Given the description of an element on the screen output the (x, y) to click on. 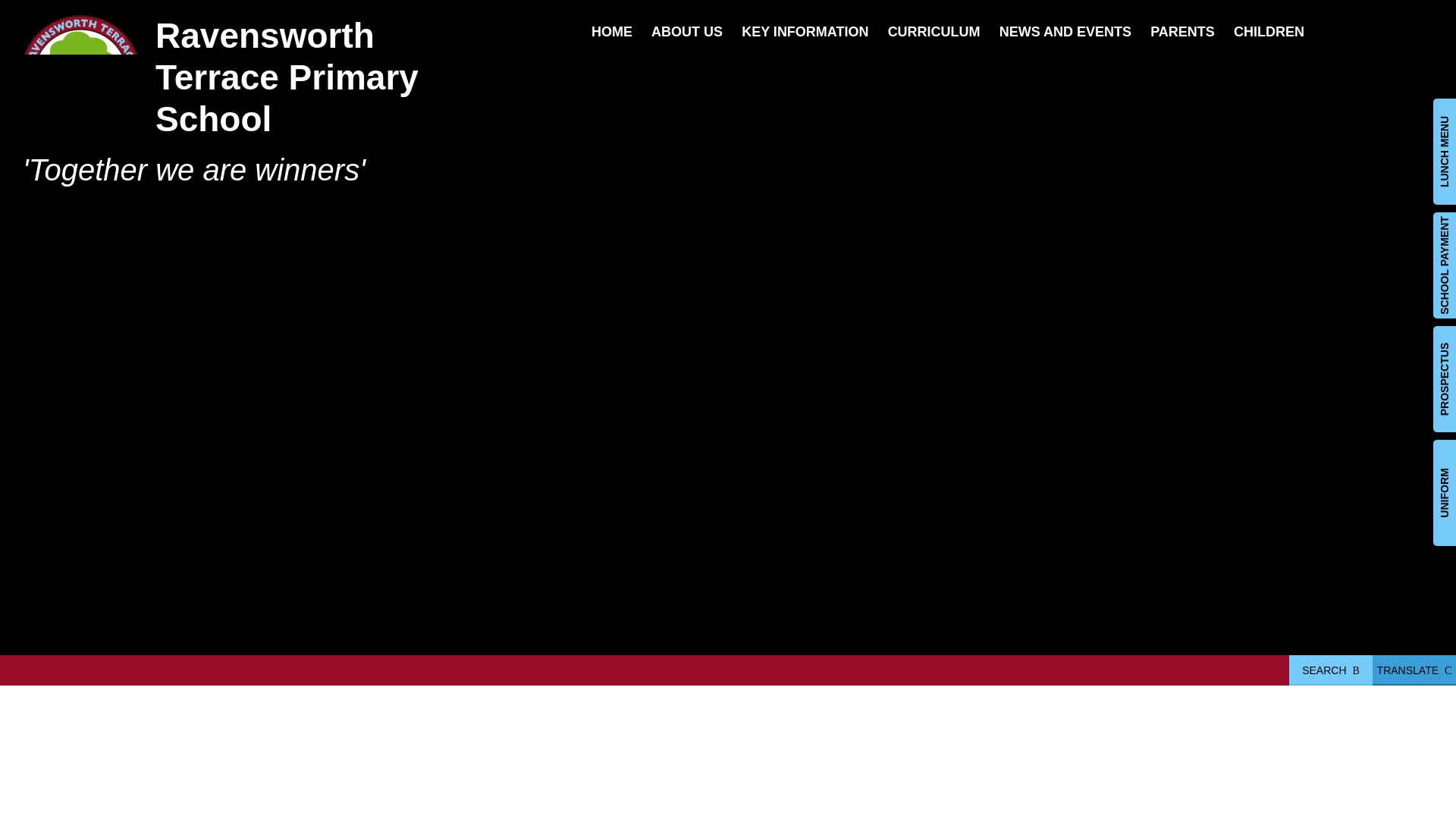
KEY INFORMATION (804, 31)
ABOUT US (686, 31)
Home Page (79, 80)
HOME (611, 31)
CURRICULUM (933, 31)
